Given the description of an element on the screen output the (x, y) to click on. 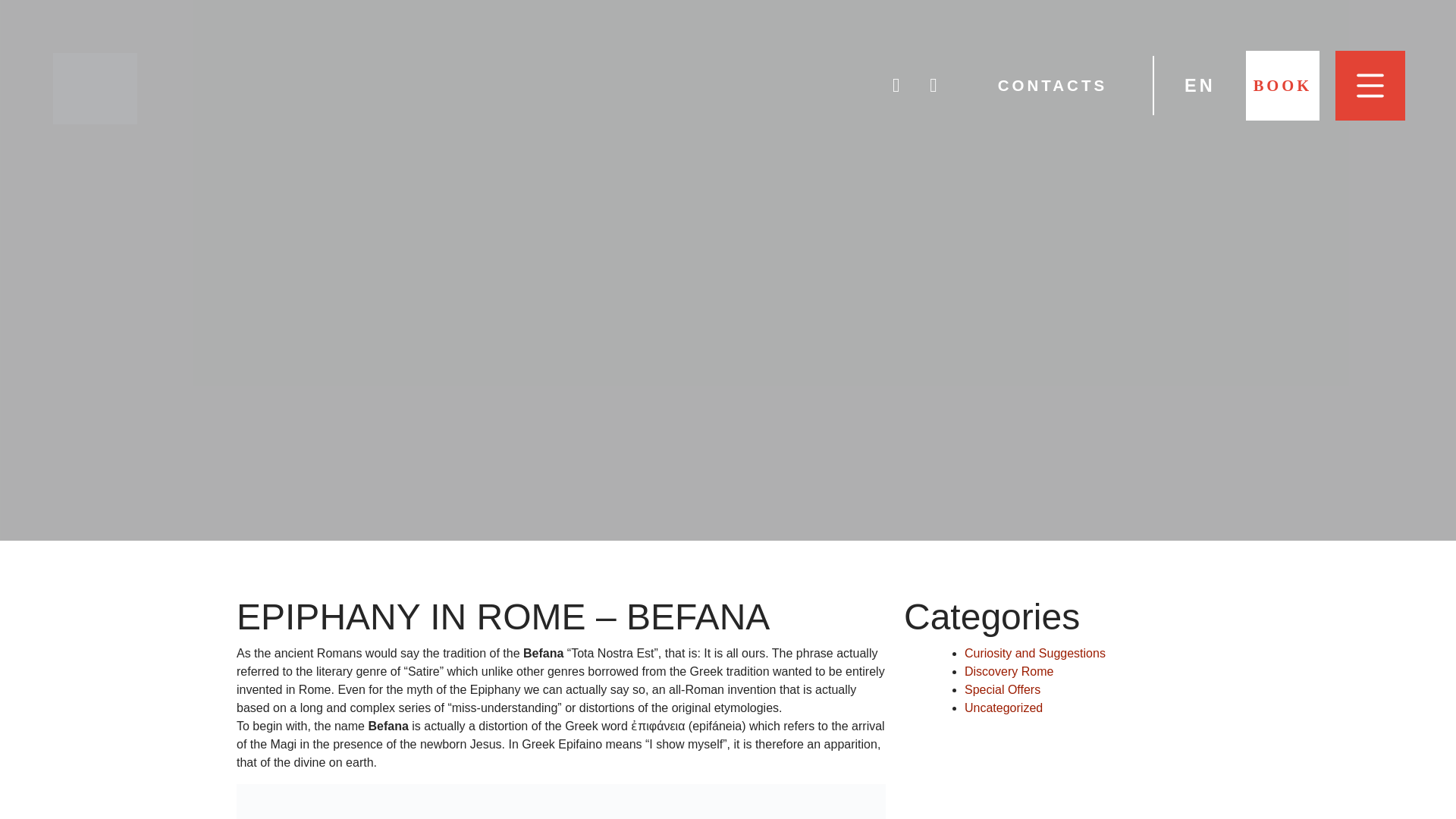
Discovery Rome (1007, 671)
Curiosity and Suggestions (1034, 653)
Book (1283, 85)
Uncategorized (1002, 707)
CONTACTS (1051, 85)
BOOK (1283, 85)
Hotel Alpi Roma (94, 87)
Special Offers (1002, 689)
Contacts (1051, 85)
